Given the description of an element on the screen output the (x, y) to click on. 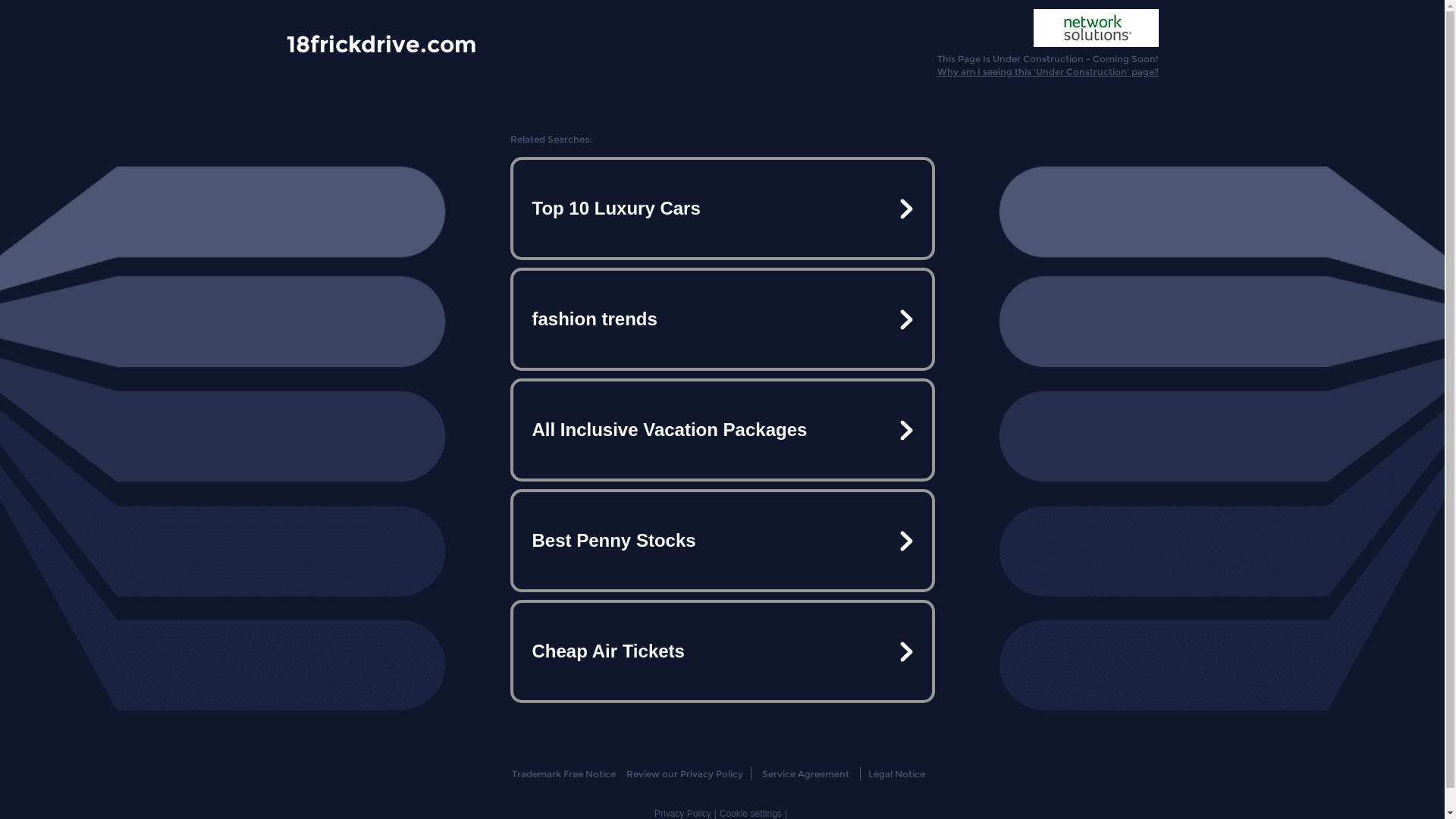
Legal Notice Element type: text (896, 773)
Best Penny Stocks Element type: text (721, 540)
18frickdrive.com Element type: text (381, 43)
Review our Privacy Policy Element type: text (684, 773)
Why am I seeing this 'Under Construction' page? Element type: text (1047, 71)
Top 10 Luxury Cars Element type: text (721, 208)
fashion trends Element type: text (721, 318)
Cheap Air Tickets Element type: text (721, 650)
All Inclusive Vacation Packages Element type: text (721, 429)
Service Agreement Element type: text (805, 773)
Trademark Free Notice Element type: text (563, 773)
